Given the description of an element on the screen output the (x, y) to click on. 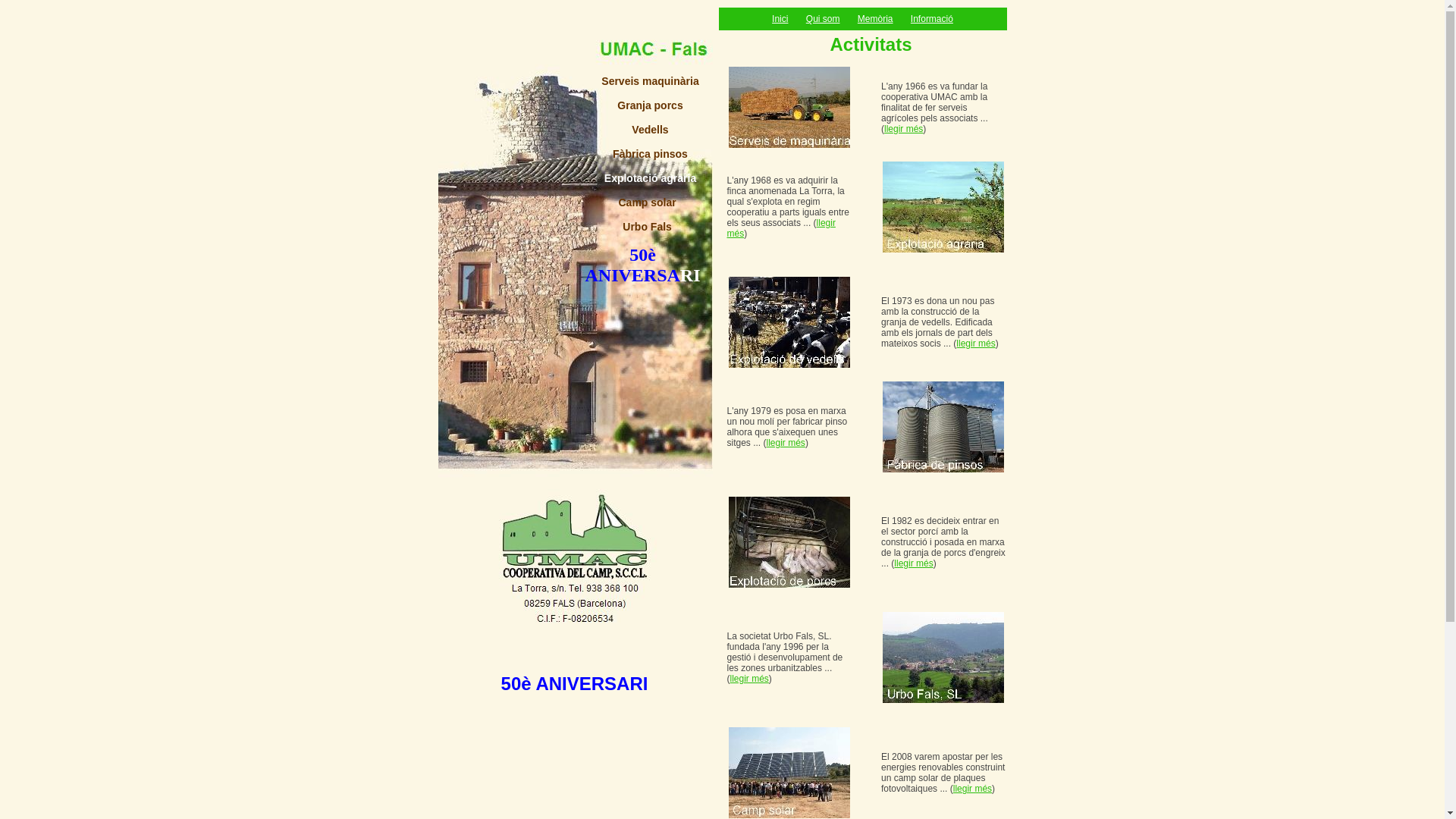
Granja porcs Element type: text (649, 105)
Camp solar Element type: text (646, 202)
Vedells Element type: text (649, 129)
Urbo Fals Element type: text (646, 226)
Qui som Element type: text (823, 18)
Inici Element type: text (779, 18)
